Given the description of an element on the screen output the (x, y) to click on. 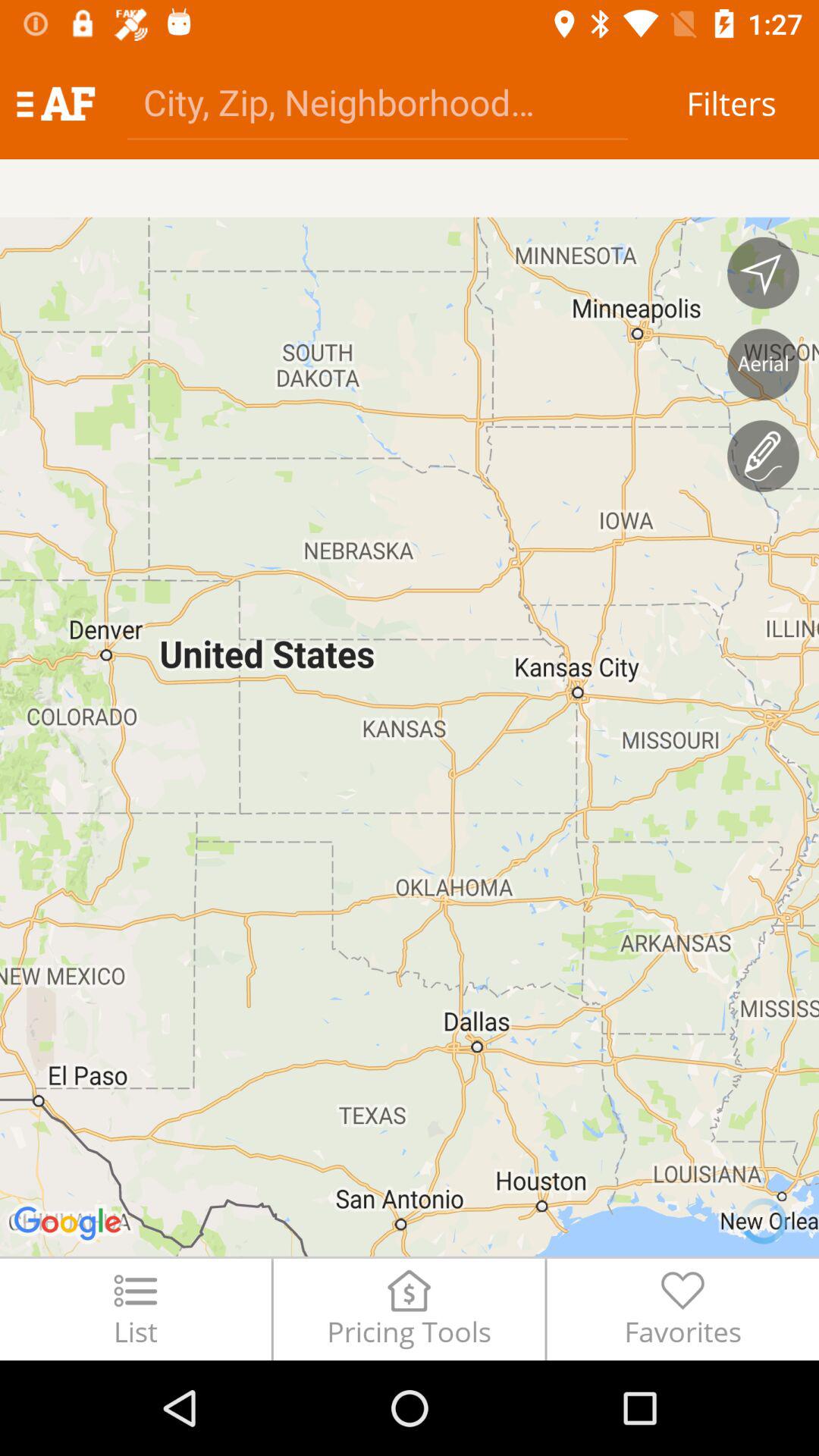
route drawing (763, 455)
